Given the description of an element on the screen output the (x, y) to click on. 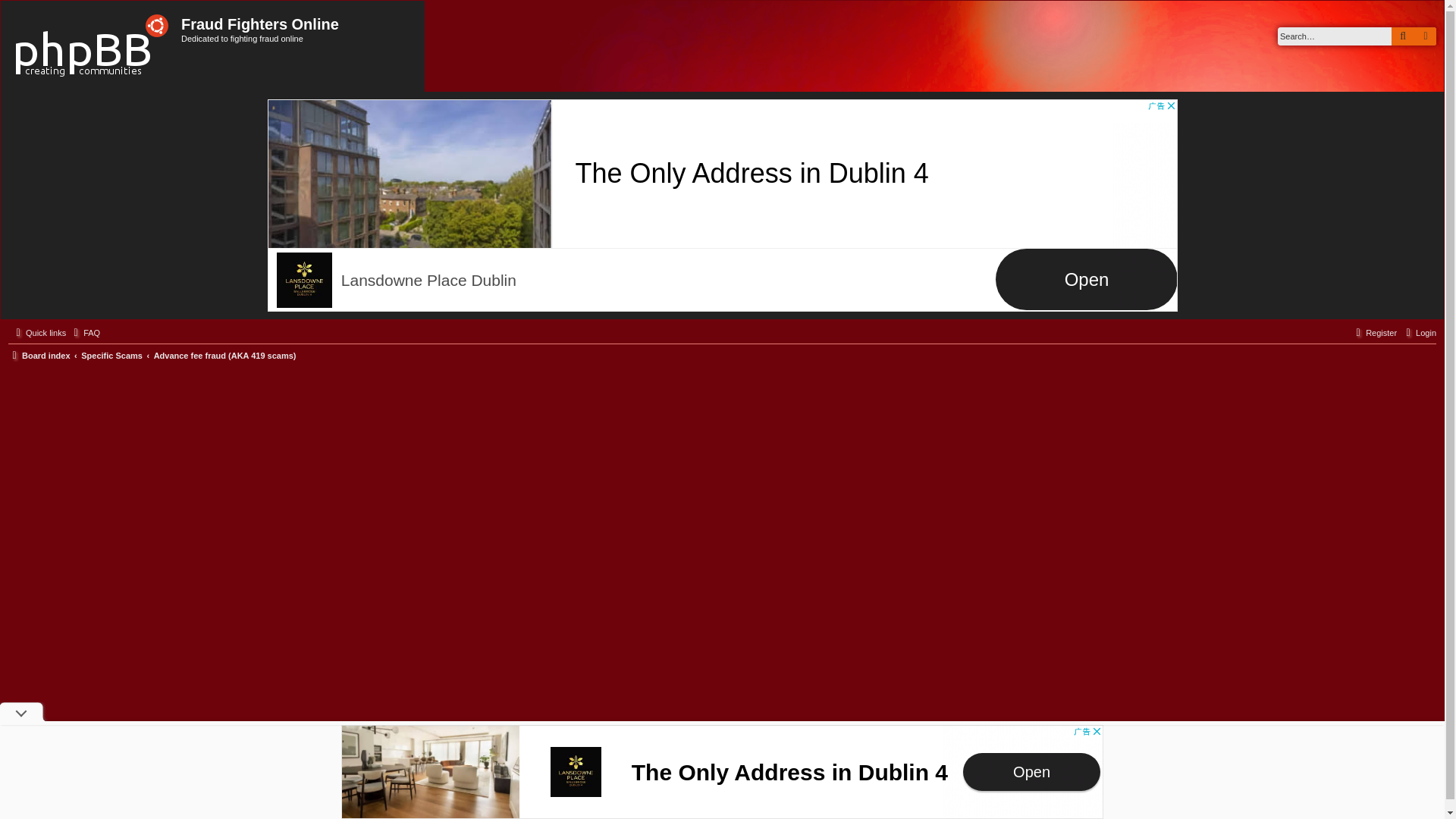
Advanced search (1424, 36)
Specific Scams (111, 355)
Search (1402, 36)
Login (1418, 332)
FAQ (84, 332)
Advanced search (1424, 36)
Frequently Asked Questions (84, 332)
Search (1402, 36)
Register (1374, 332)
